Given the description of an element on the screen output the (x, y) to click on. 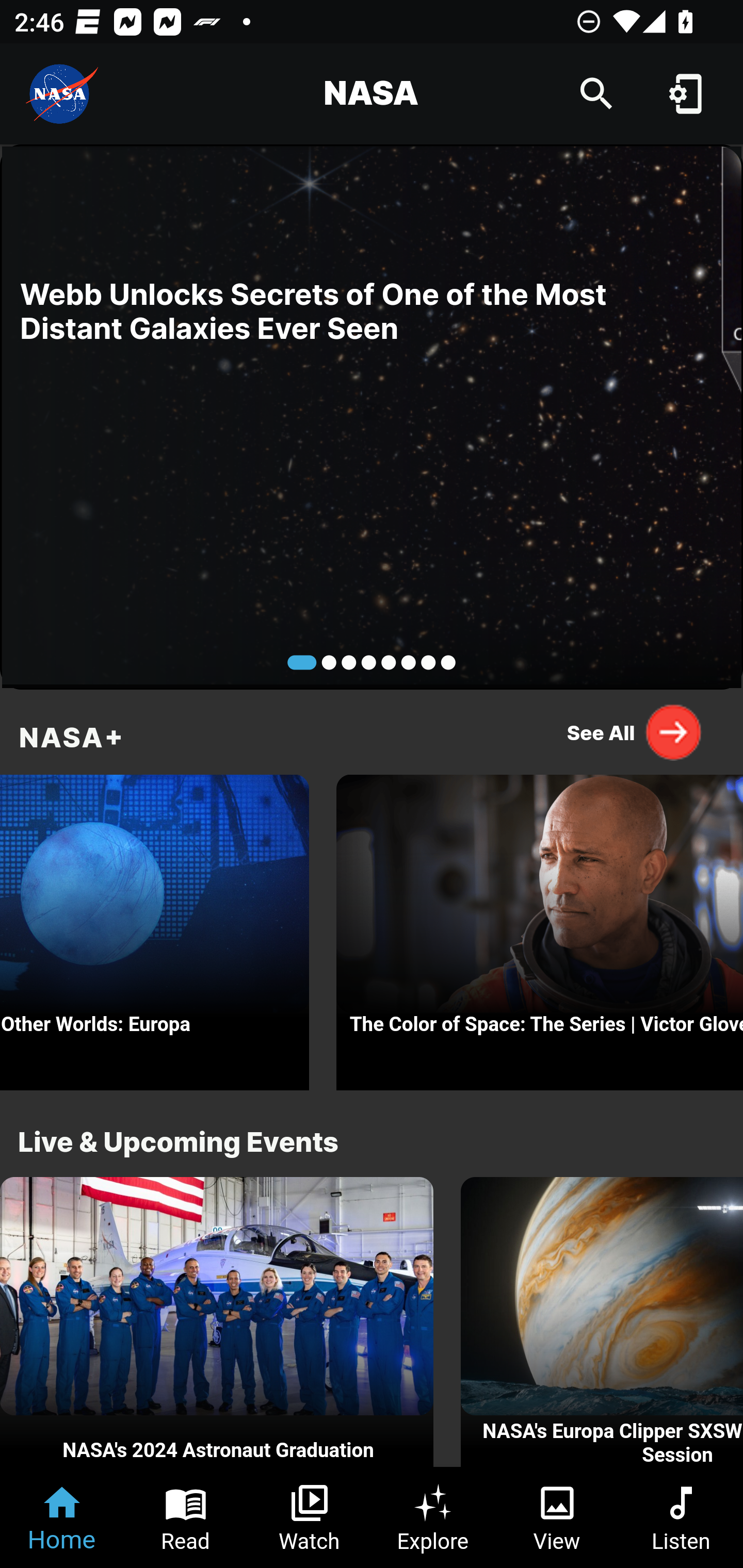
See All (634, 732)
Other Worlds: Europa (154, 927)
The Color of Space: The Series | Victor Glover (539, 927)
NASA's 2024 Astronaut Graduation (216, 1322)
NASA's Europa Clipper SXSW 2024 Opening Session (601, 1322)
Home
Tab 1 of 6 (62, 1517)
Read
Tab 2 of 6 (185, 1517)
Watch
Tab 3 of 6 (309, 1517)
Explore
Tab 4 of 6 (433, 1517)
View
Tab 5 of 6 (556, 1517)
Listen
Tab 6 of 6 (680, 1517)
